Given the description of an element on the screen output the (x, y) to click on. 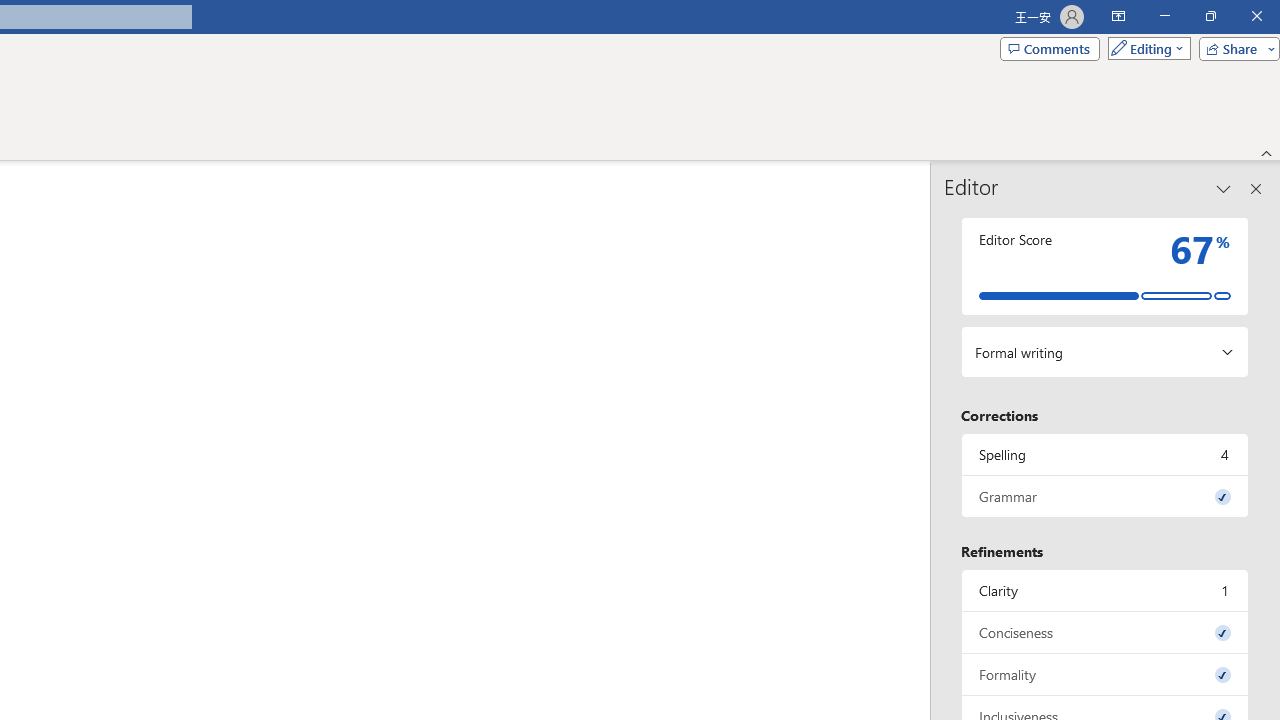
Conciseness, 0 issues. Press space or enter to review items. (1105, 632)
Clarity, 1 issue. Press space or enter to review items. (1105, 590)
Editor Score 67% (1105, 266)
Spelling, 4 issues. Press space or enter to review items. (1105, 454)
Grammar, 0 issues. Press space or enter to review items. (1105, 495)
